Given the description of an element on the screen output the (x, y) to click on. 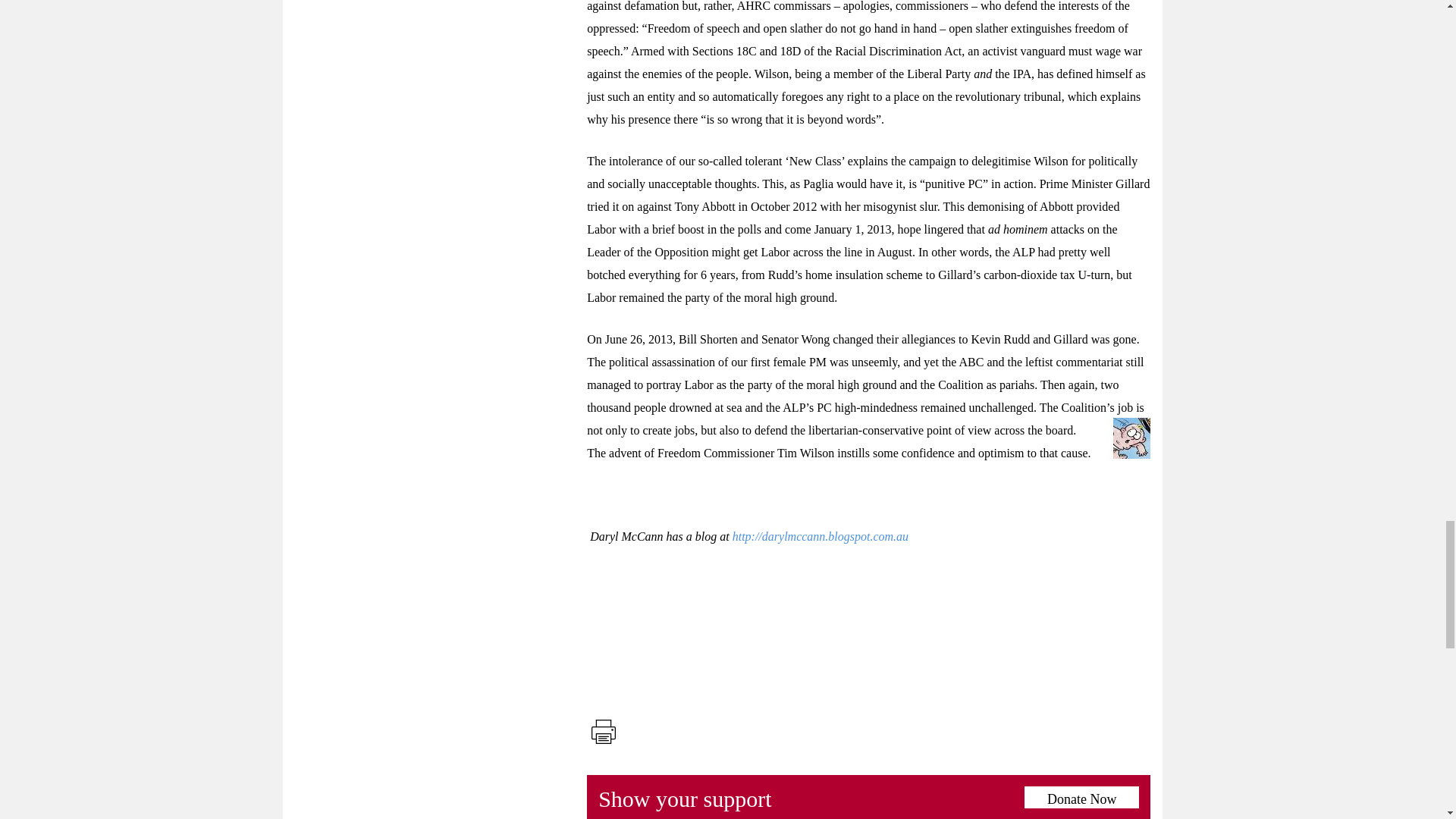
Print article (603, 731)
